Given the description of an element on the screen output the (x, y) to click on. 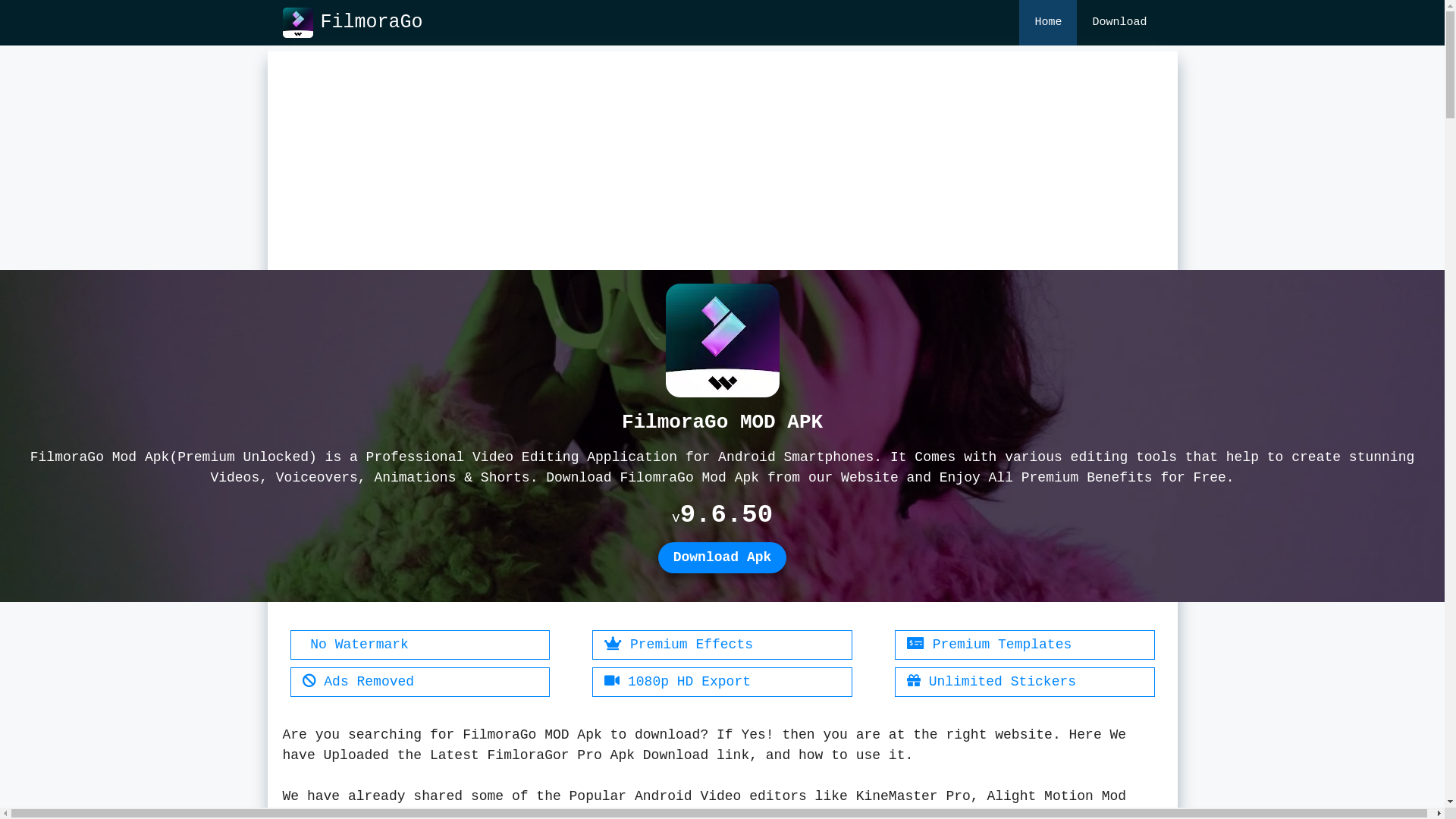
Download Apk Element type: text (722, 557)
FilmoraGo Element type: text (371, 22)
Home Element type: text (1047, 22)
Advertisement Element type: hover (721, 157)
Download Element type: text (1118, 22)
FilmoraGo Element type: hover (297, 22)
